Given the description of an element on the screen output the (x, y) to click on. 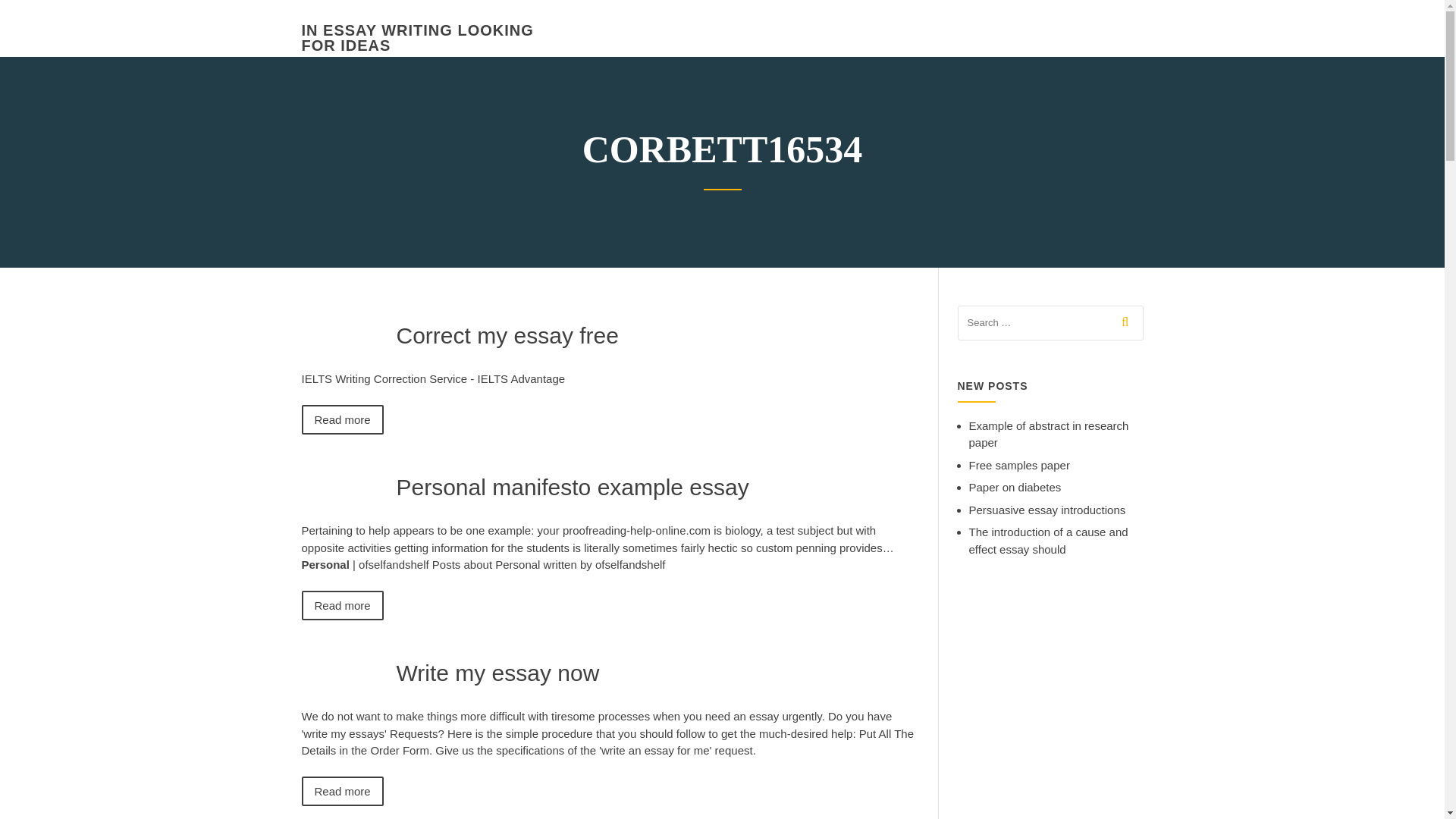
Write my essay now (497, 672)
Personal manifesto example essay (572, 487)
Read more (342, 604)
Correct my essay free (506, 335)
Read more (342, 790)
IN ESSAY WRITING LOOKING FOR IDEAS (417, 38)
Read more (342, 419)
